Given the description of an element on the screen output the (x, y) to click on. 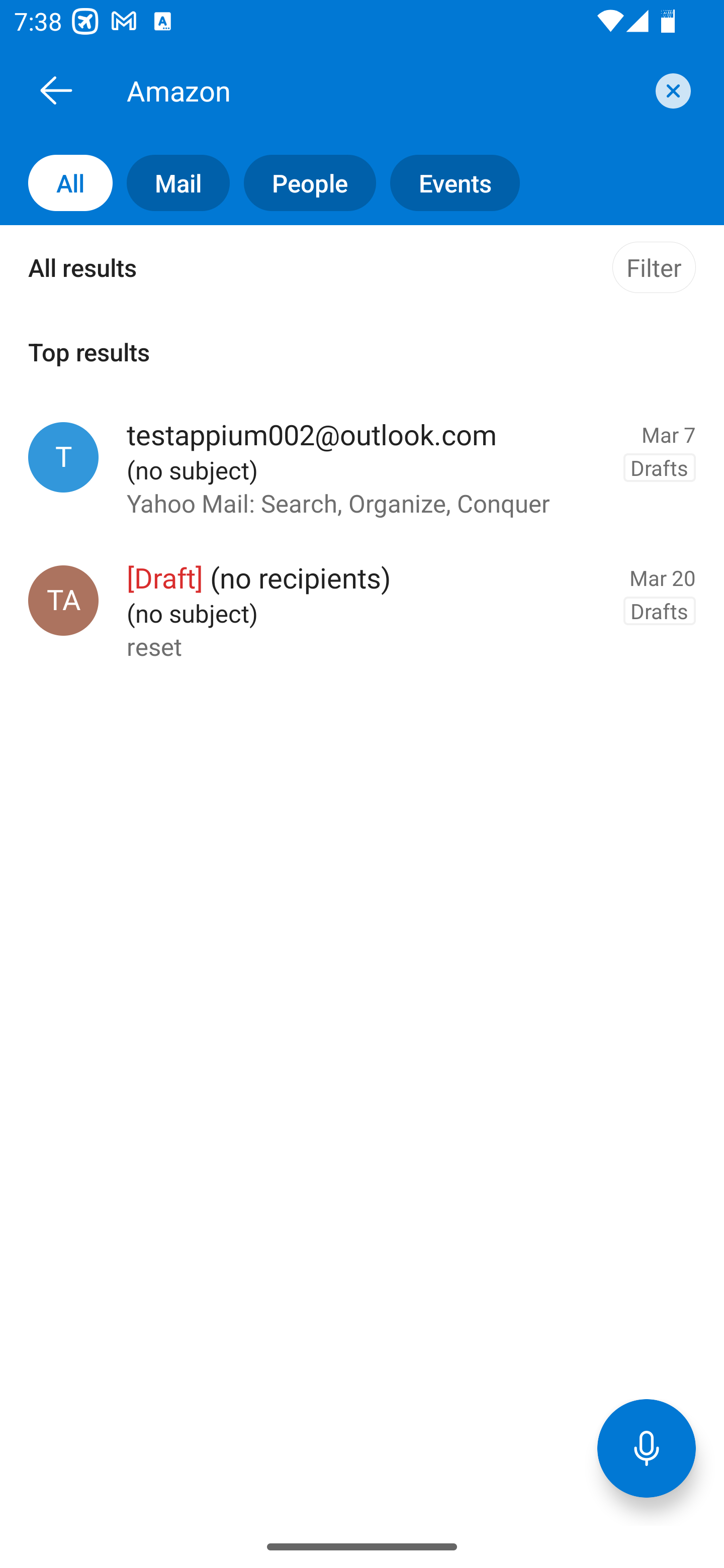
Back (55, 89)
Amazon (384, 89)
clear search (670, 90)
Mail (170, 183)
People (302, 183)
Events (447, 183)
Filter (653, 267)
Voice Assistant (646, 1447)
